Given the description of an element on the screen output the (x, y) to click on. 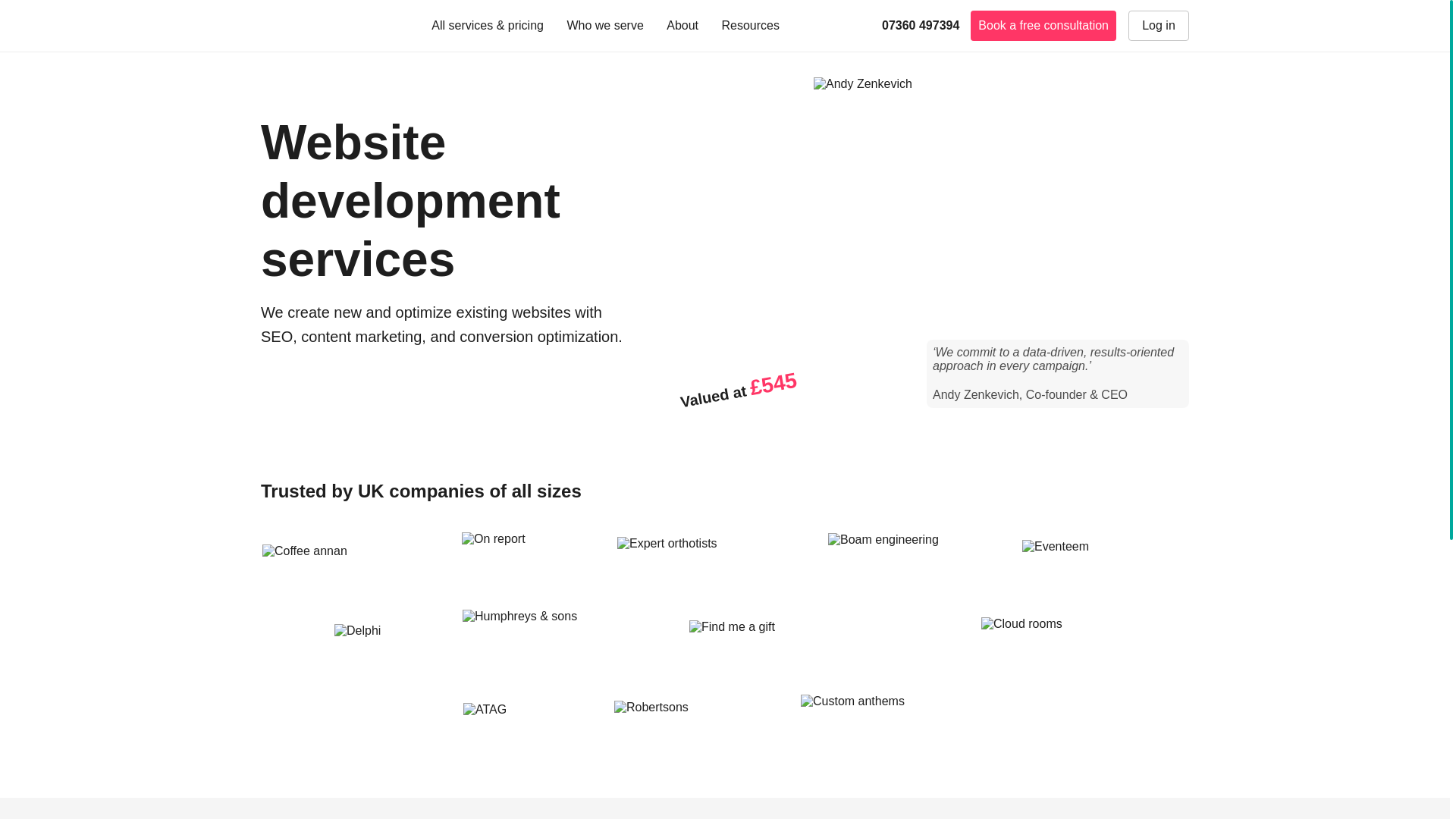
Find me a gift (822, 639)
Expert orthotists (710, 558)
Coffee annan (350, 559)
Andy Zenkevich (862, 83)
ATAG (526, 721)
Who we serve (610, 25)
Custom anthems (893, 721)
On report (526, 558)
Delphi (386, 640)
Cloud rooms (1048, 639)
Robertsons (695, 721)
Eventeem (1105, 558)
Boam engineering (912, 558)
